Given the description of an element on the screen output the (x, y) to click on. 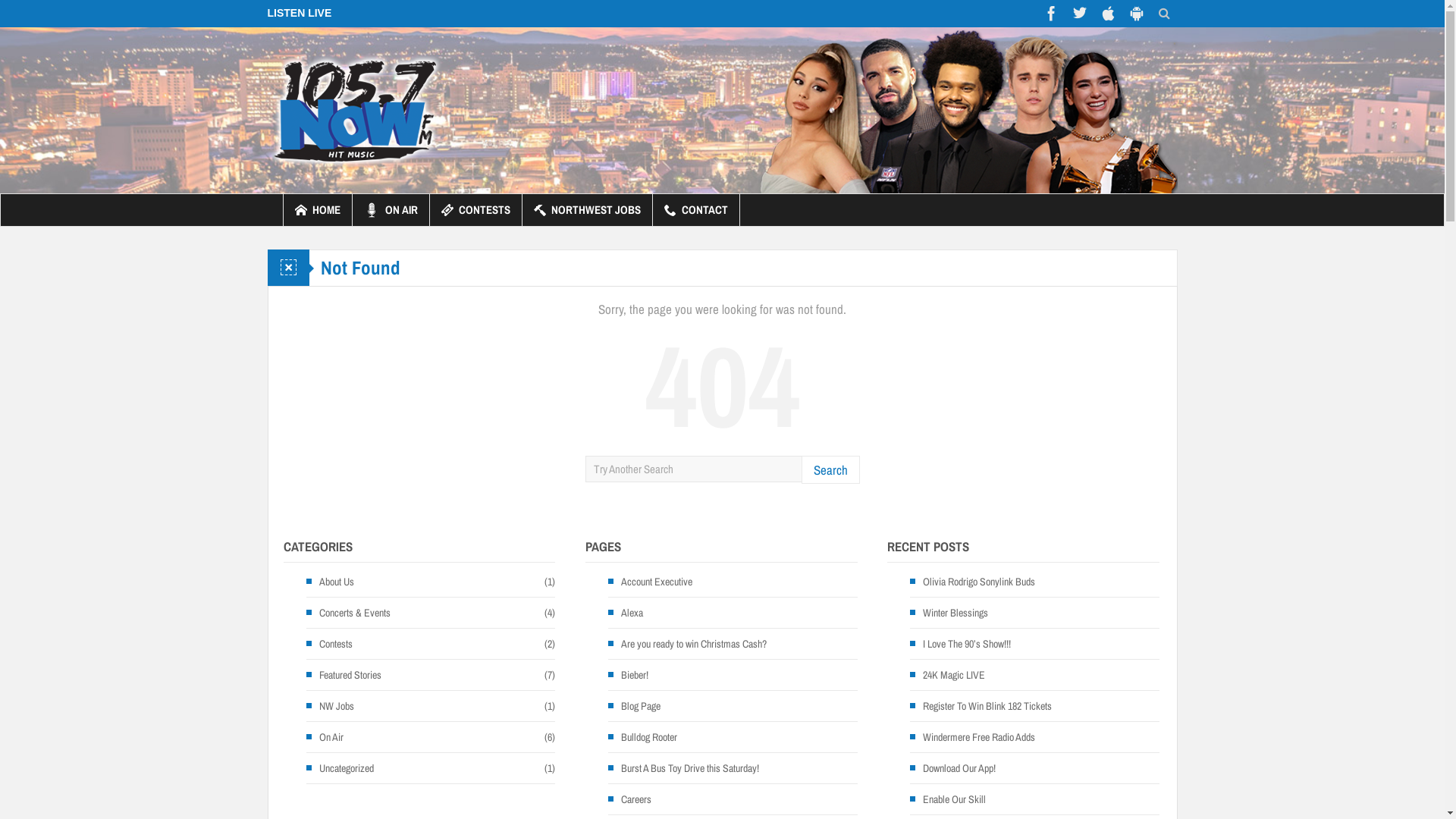
On Air Element type: text (324, 736)
Blog Page Element type: text (634, 705)
24K Magic LIVE Element type: text (947, 674)
ON AIR Element type: text (389, 209)
Bieber! Element type: text (628, 674)
Bulldog Rooter Element type: text (642, 736)
Uncategorized Element type: text (339, 767)
Careers Element type: text (629, 798)
LISTEN LIVE Element type: text (298, 12)
Olivia Rodrigo Sonylink Buds Element type: text (972, 581)
About Us Element type: text (330, 581)
Featured Stories Element type: text (343, 674)
Register To Win Blink 182 Tickets Element type: text (980, 705)
CONTACT Element type: text (695, 209)
Search for: Element type: hover (693, 468)
NORTHWEST JOBS Element type: text (586, 209)
NW Jobs Element type: text (330, 705)
Contests Element type: text (329, 643)
Burst A Bus Toy Drive this Saturday! Element type: text (683, 767)
Are you ready to win Christmas Cash? Element type: text (687, 643)
Alexa Element type: text (625, 612)
Account Executive Element type: text (650, 581)
Enable Our Skill Element type: text (947, 798)
Winter Blessings Element type: text (949, 612)
105.7 Now FM Element type: hover (354, 109)
HOME Element type: text (317, 209)
Windermere Free Radio Adds Element type: text (972, 736)
Concerts & Events Element type: text (348, 612)
CONTESTS Element type: text (474, 209)
Download Our App! Element type: text (952, 767)
Search Element type: text (829, 469)
